Given the description of an element on the screen output the (x, y) to click on. 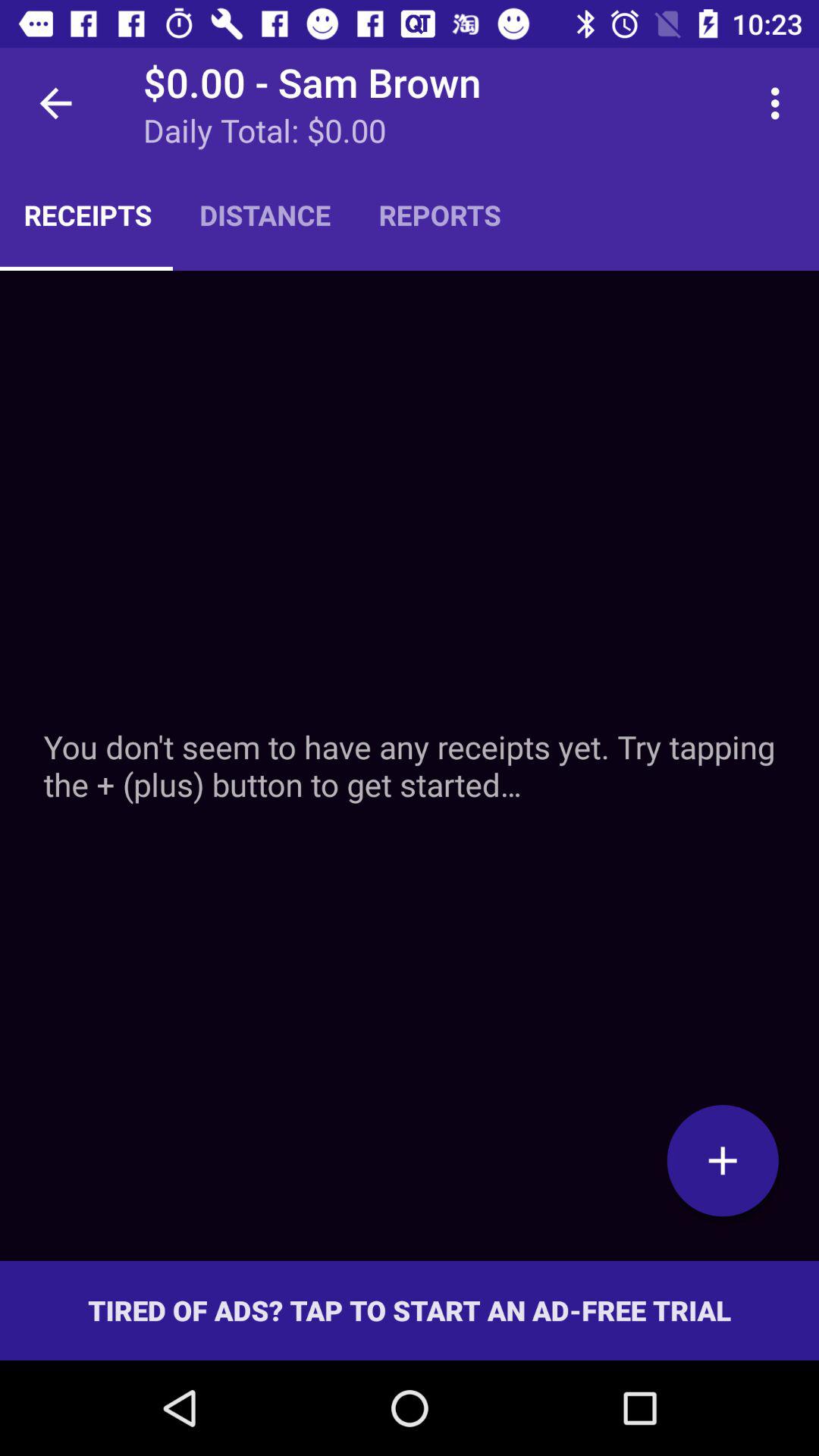
add receipts (409, 765)
